Given the description of an element on the screen output the (x, y) to click on. 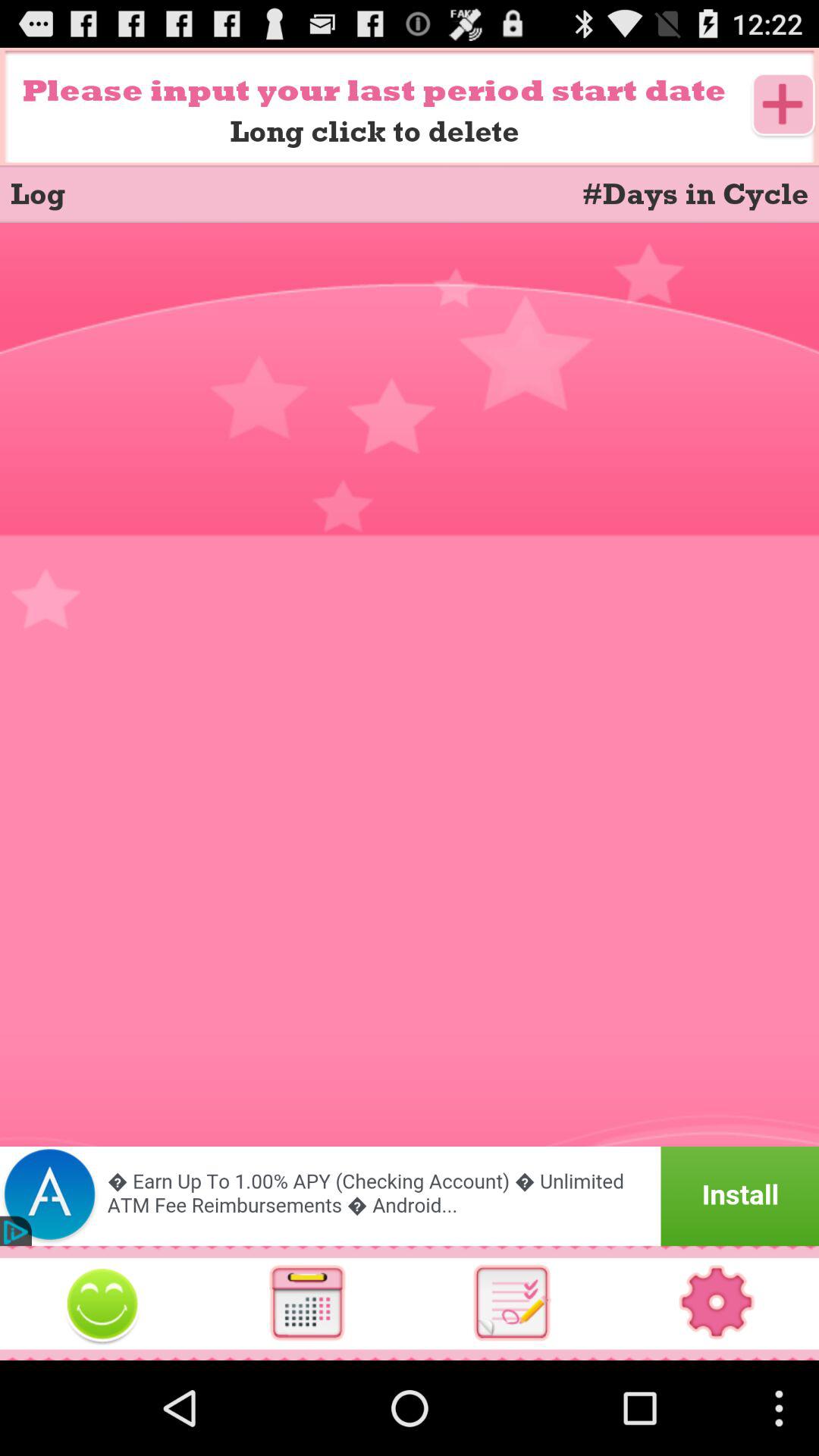
add an event (784, 105)
